Given the description of an element on the screen output the (x, y) to click on. 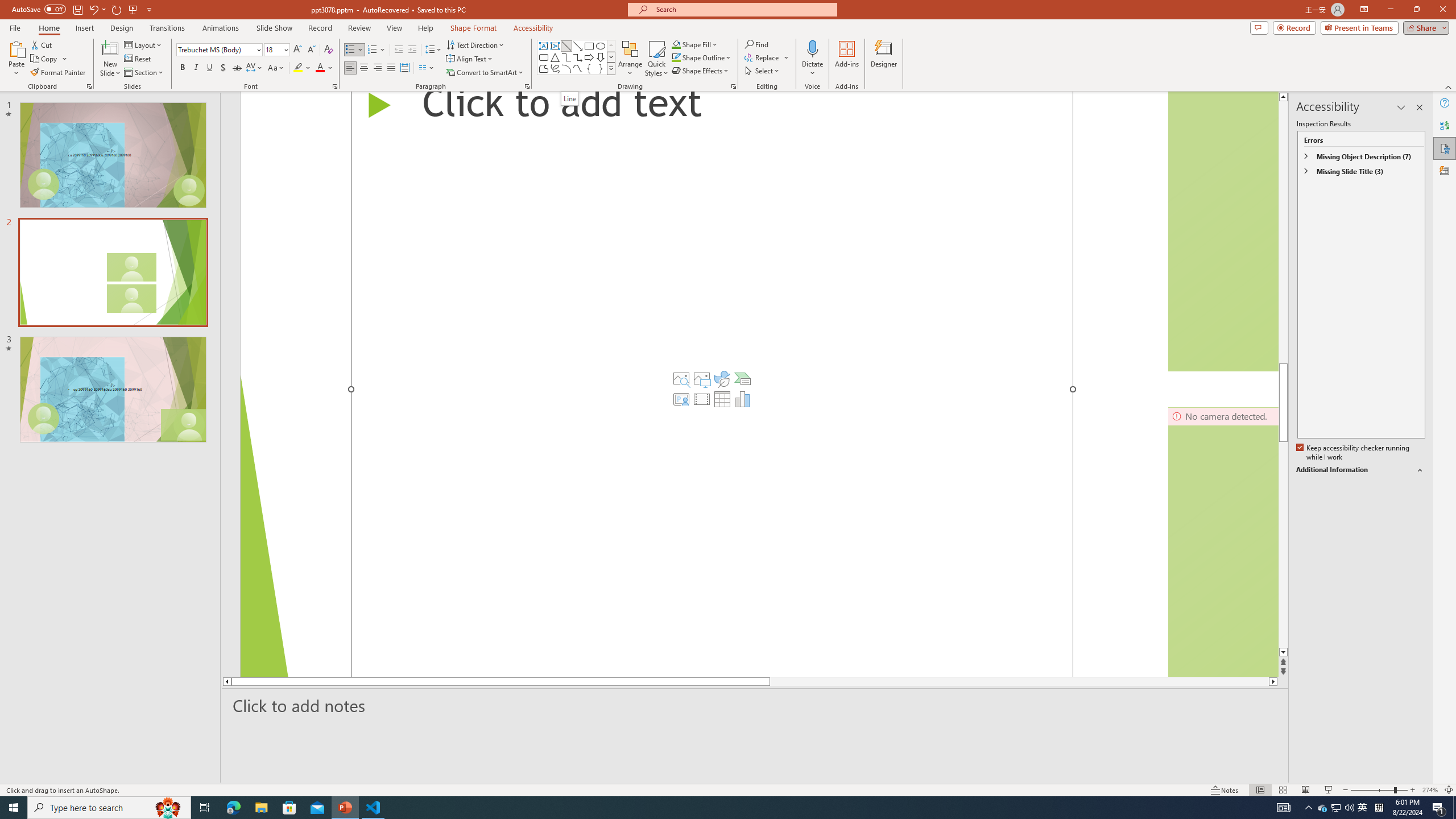
Row Down (611, 56)
Arrange (630, 58)
Shape Outline (701, 56)
Class: MsoCommandBar (728, 789)
Close pane (1419, 107)
Arrow: Down (600, 57)
Increase Font Size (297, 49)
Connector: Elbow Arrow (577, 57)
Bold (182, 67)
Find... (756, 44)
Zoom 274% (1430, 790)
Connector: Elbow (566, 57)
